Given the description of an element on the screen output the (x, y) to click on. 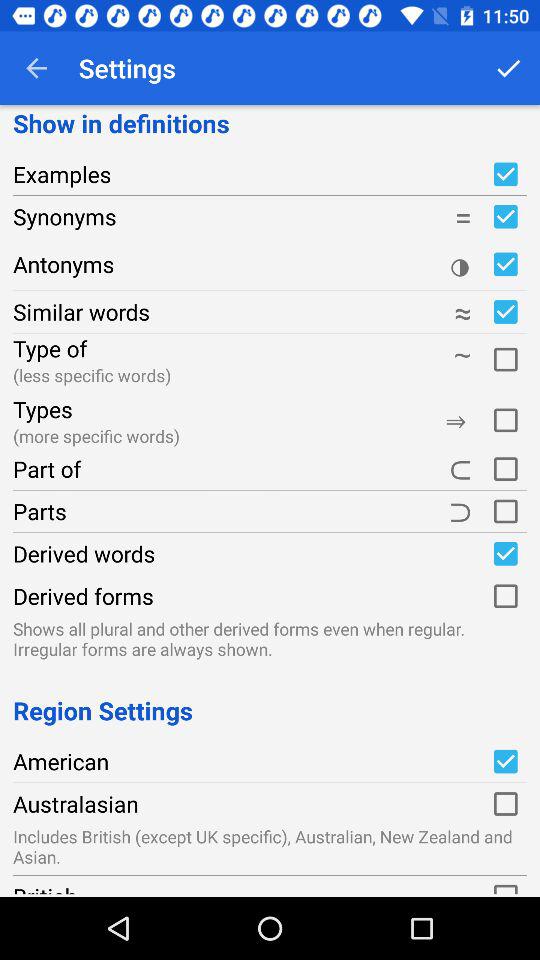
show synonyms (505, 216)
